Given the description of an element on the screen output the (x, y) to click on. 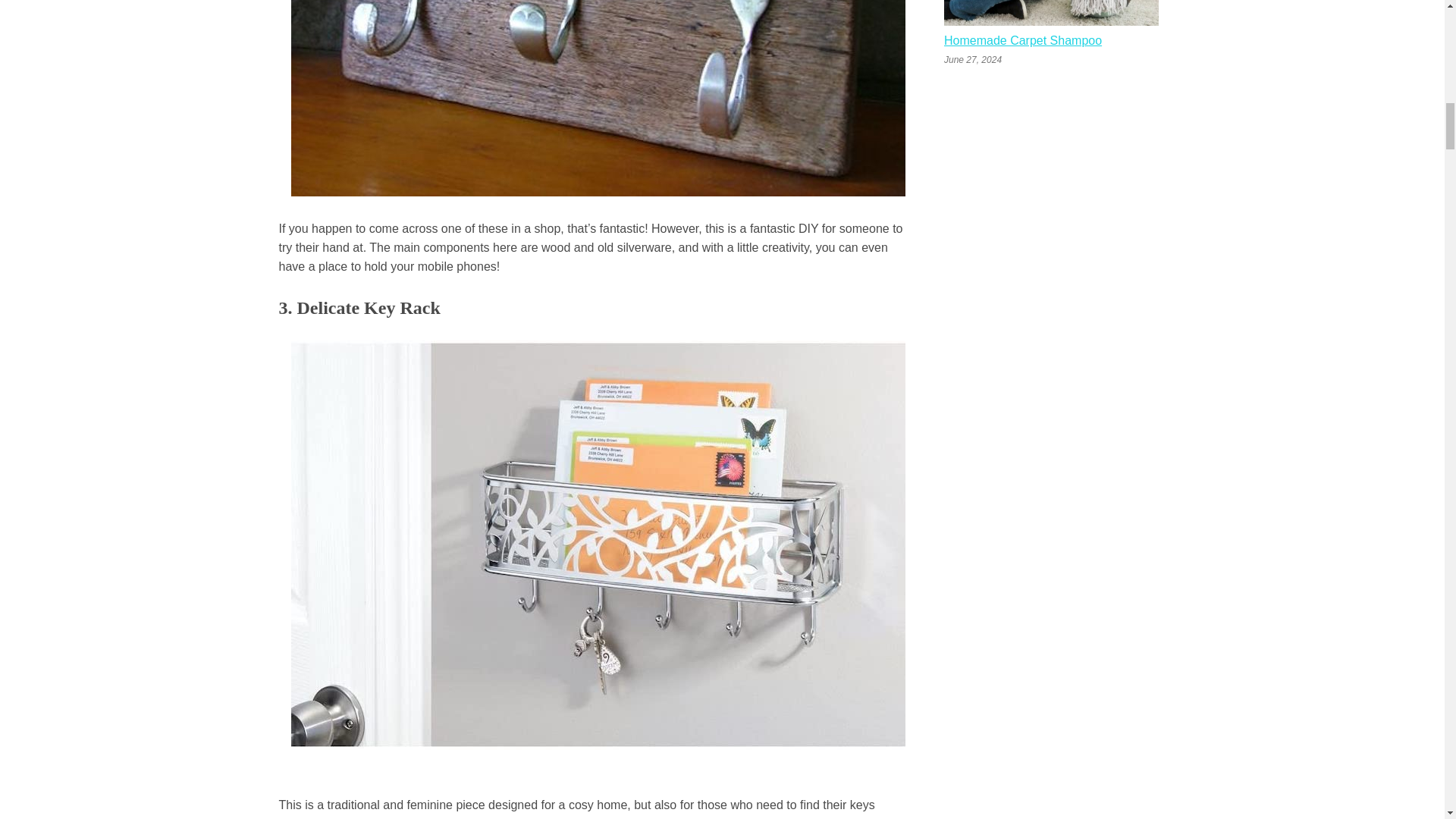
Homemade Carpet Shampoo (1022, 42)
